Given the description of an element on the screen output the (x, y) to click on. 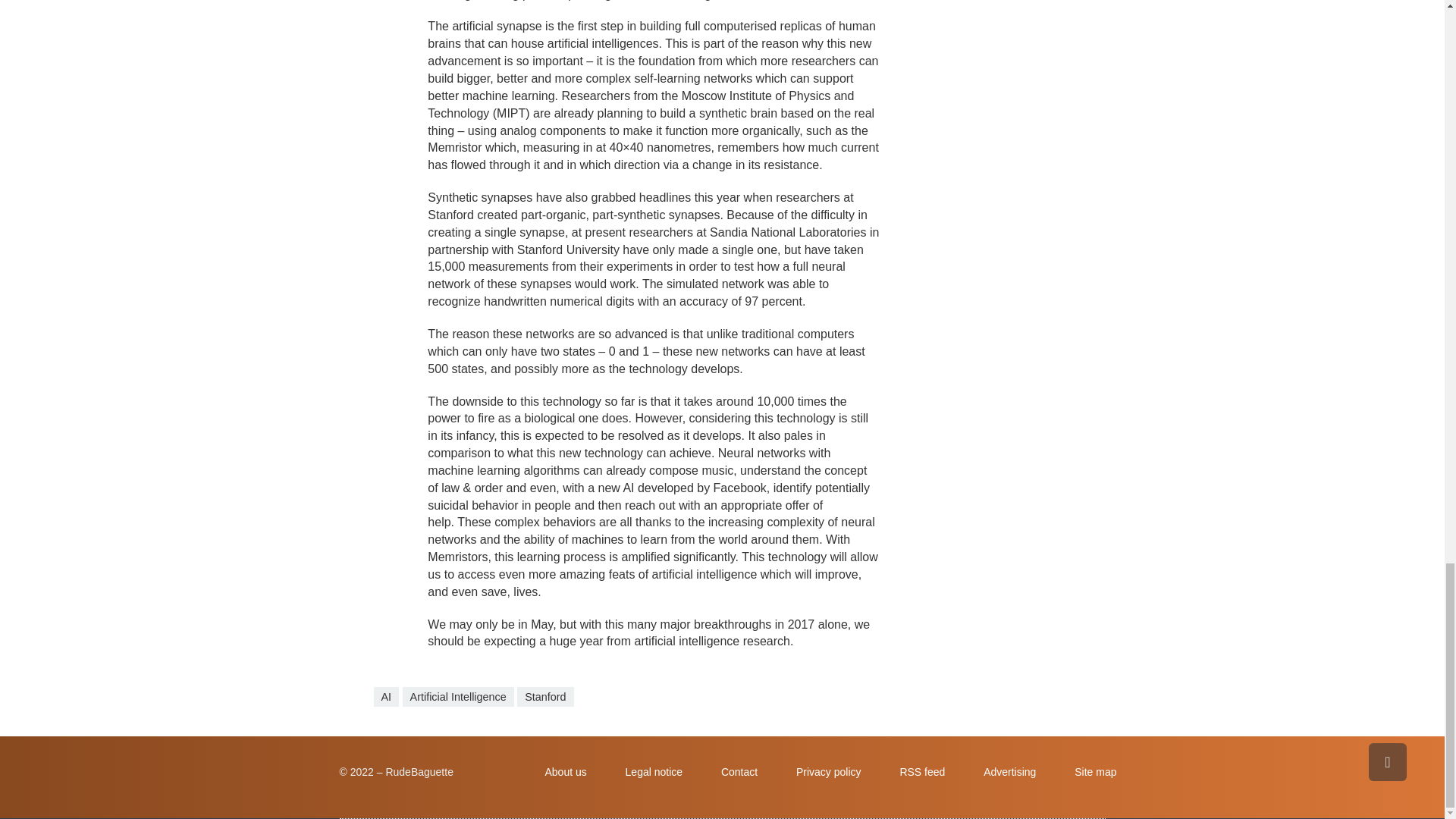
AI (385, 696)
Artificial Intelligence (458, 696)
Stanford (544, 696)
